Given the description of an element on the screen output the (x, y) to click on. 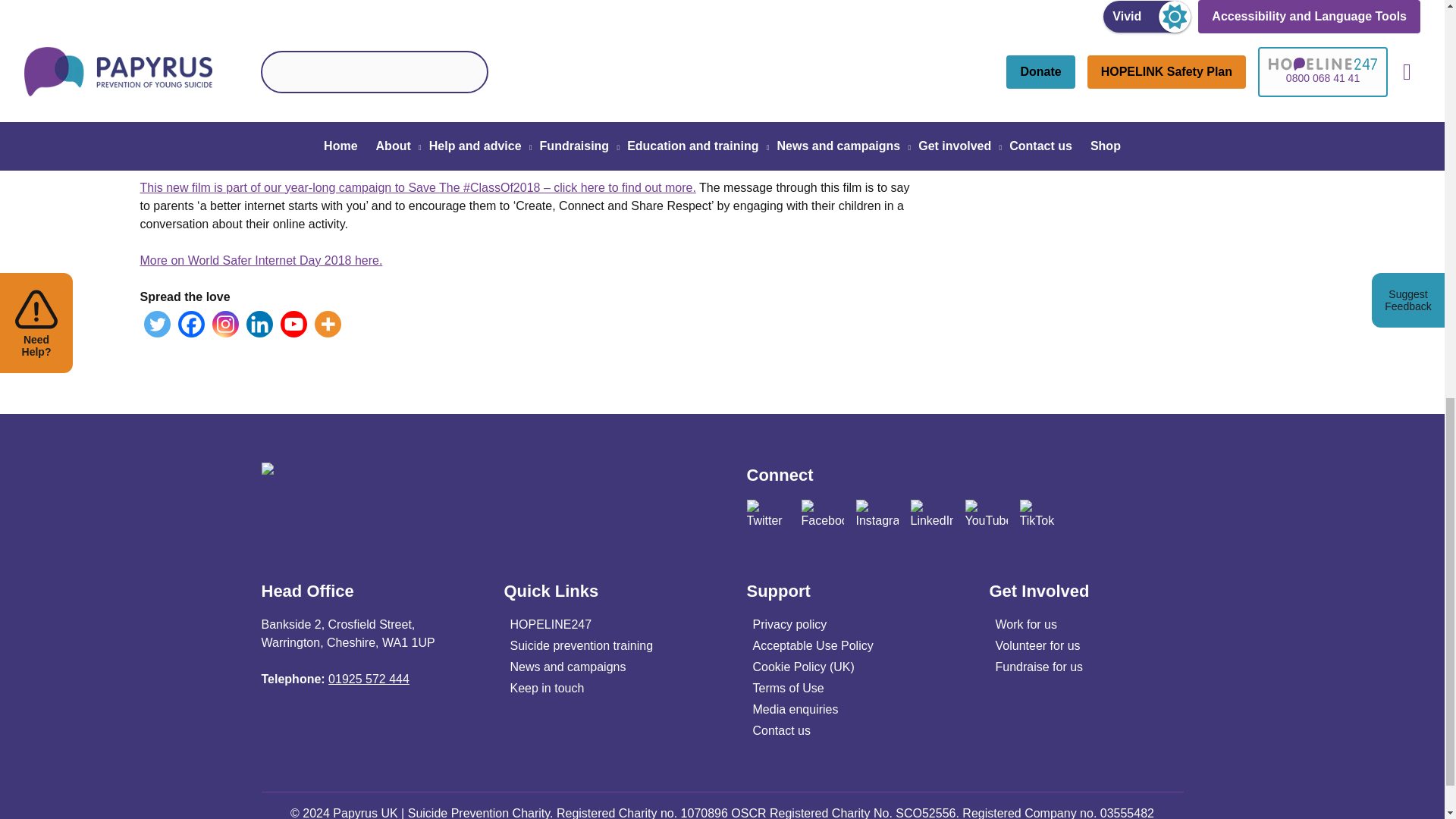
Youtube (294, 324)
Twitter (157, 324)
More (327, 324)
Facebook (190, 324)
Instagram (225, 324)
Linkedin (259, 324)
